Given the description of an element on the screen output the (x, y) to click on. 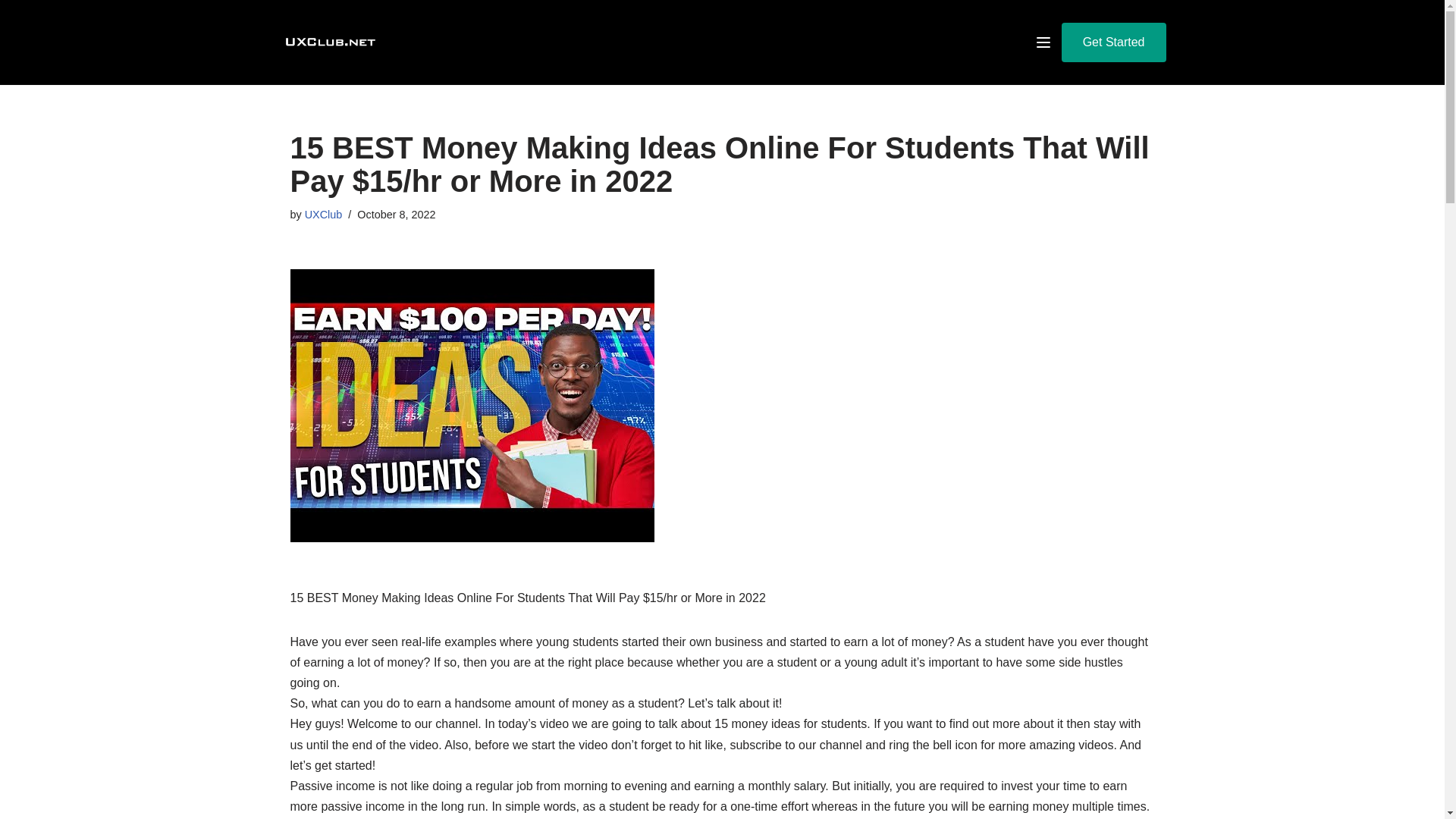
Get Started (1113, 42)
Posts by UXClub (323, 214)
UXClub (323, 214)
